Given the description of an element on the screen output the (x, y) to click on. 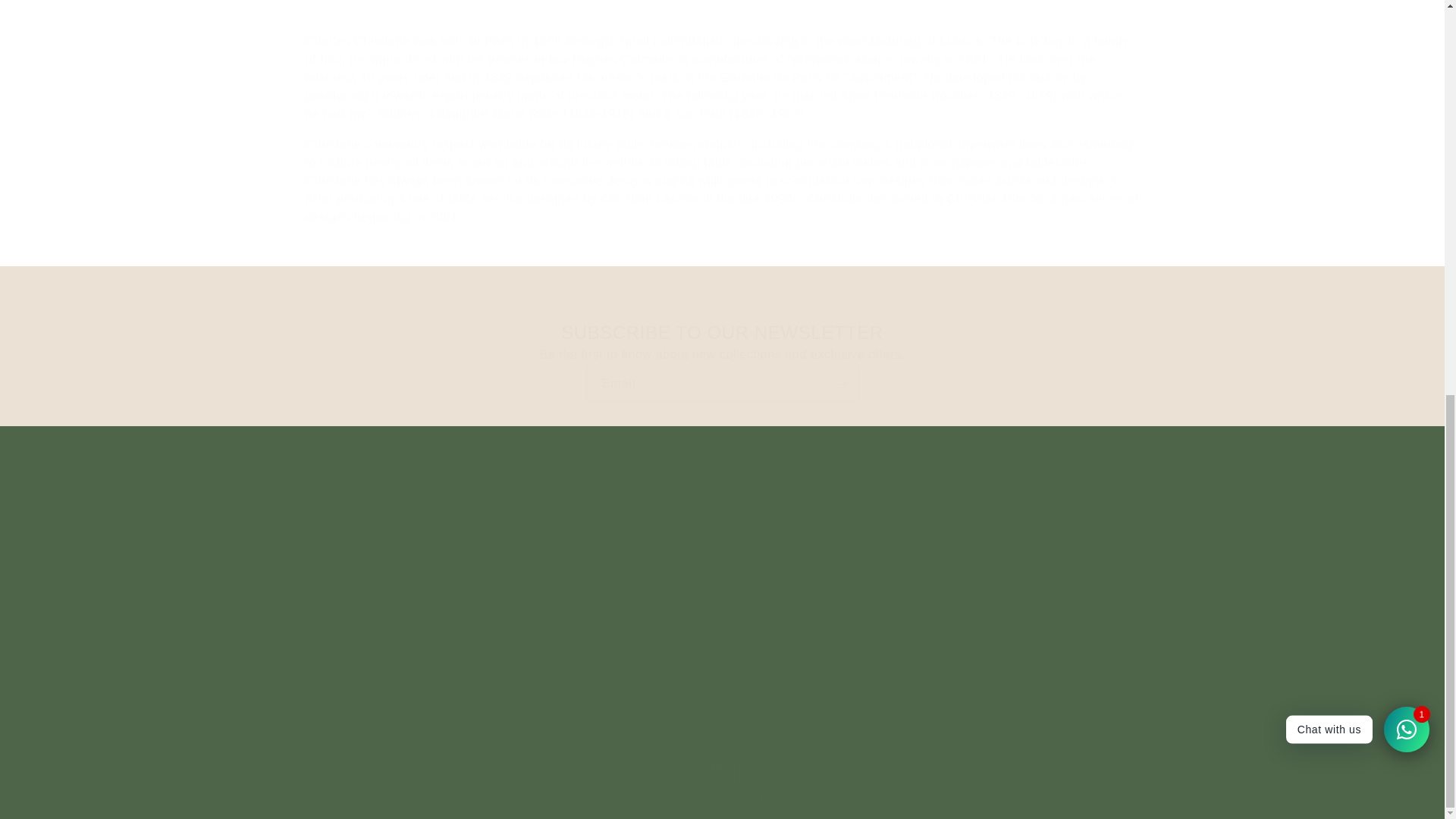
SUBSCRIBE TO OUR NEWSLETTER (721, 332)
Email (722, 384)
